Given the description of an element on the screen output the (x, y) to click on. 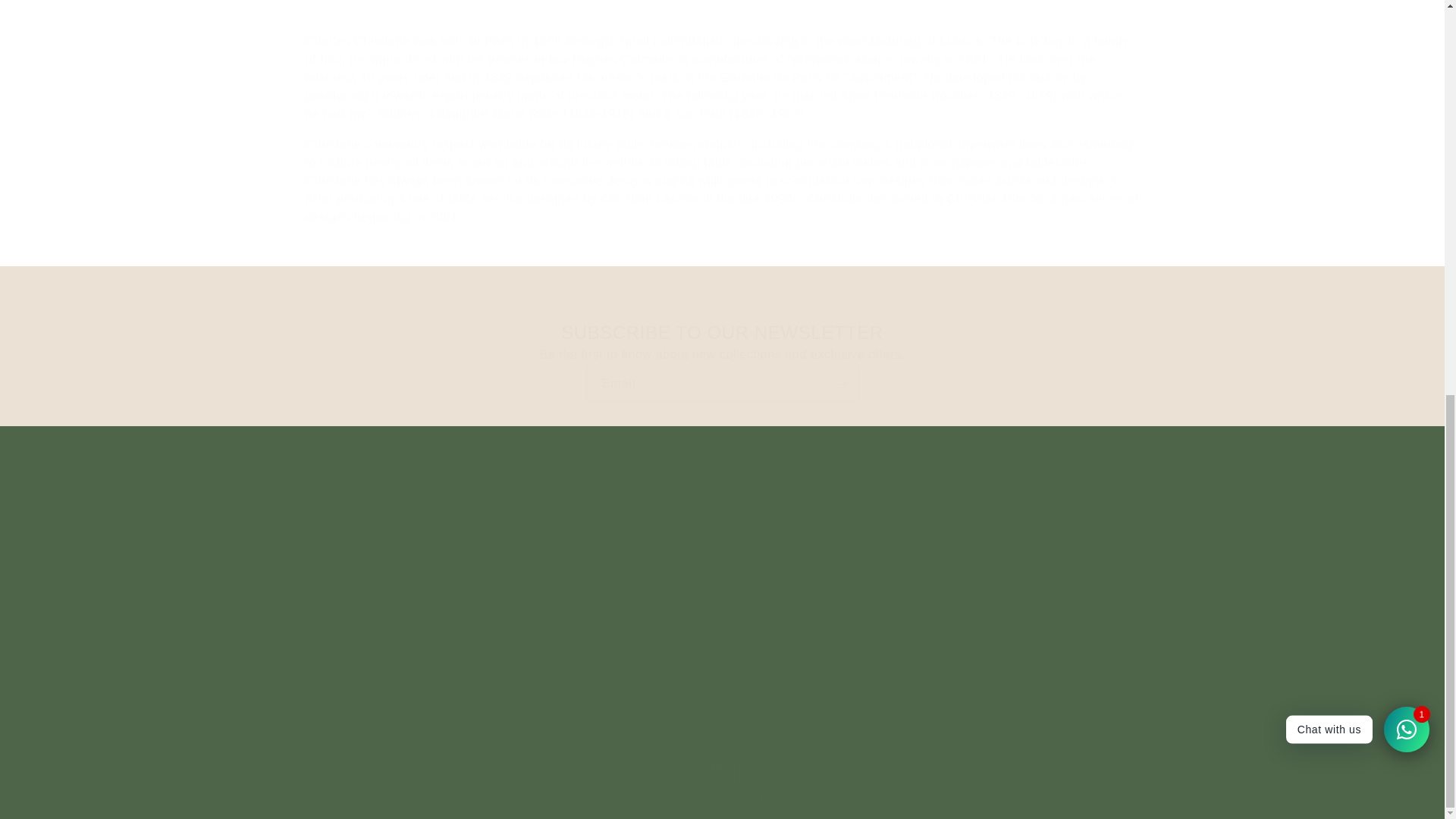
SUBSCRIBE TO OUR NEWSLETTER (721, 332)
Email (722, 384)
